Given the description of an element on the screen output the (x, y) to click on. 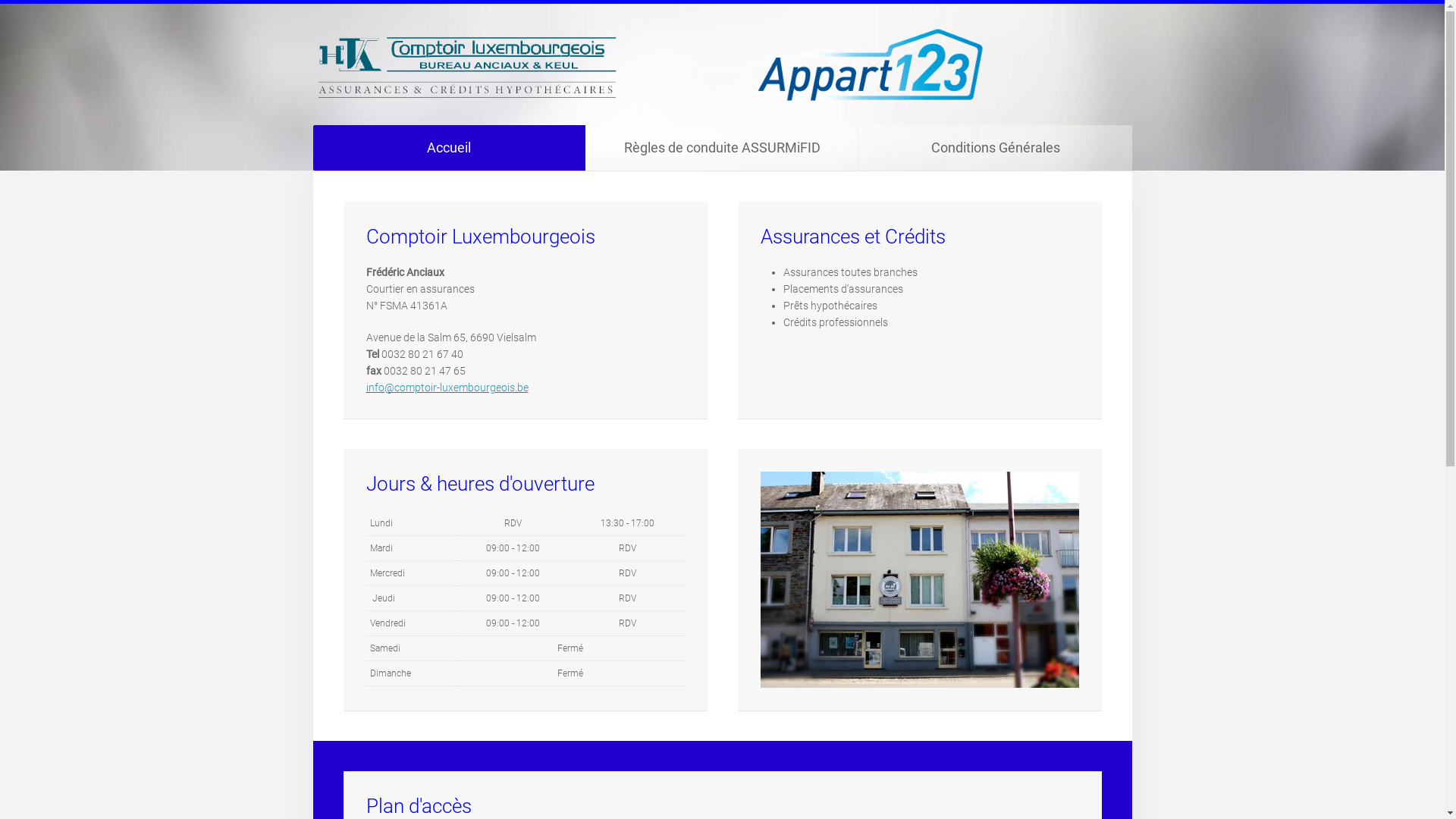
info@comptoir-luxembourgeois.be Element type: text (446, 387)
Accueil Element type: text (448, 147)
